Given the description of an element on the screen output the (x, y) to click on. 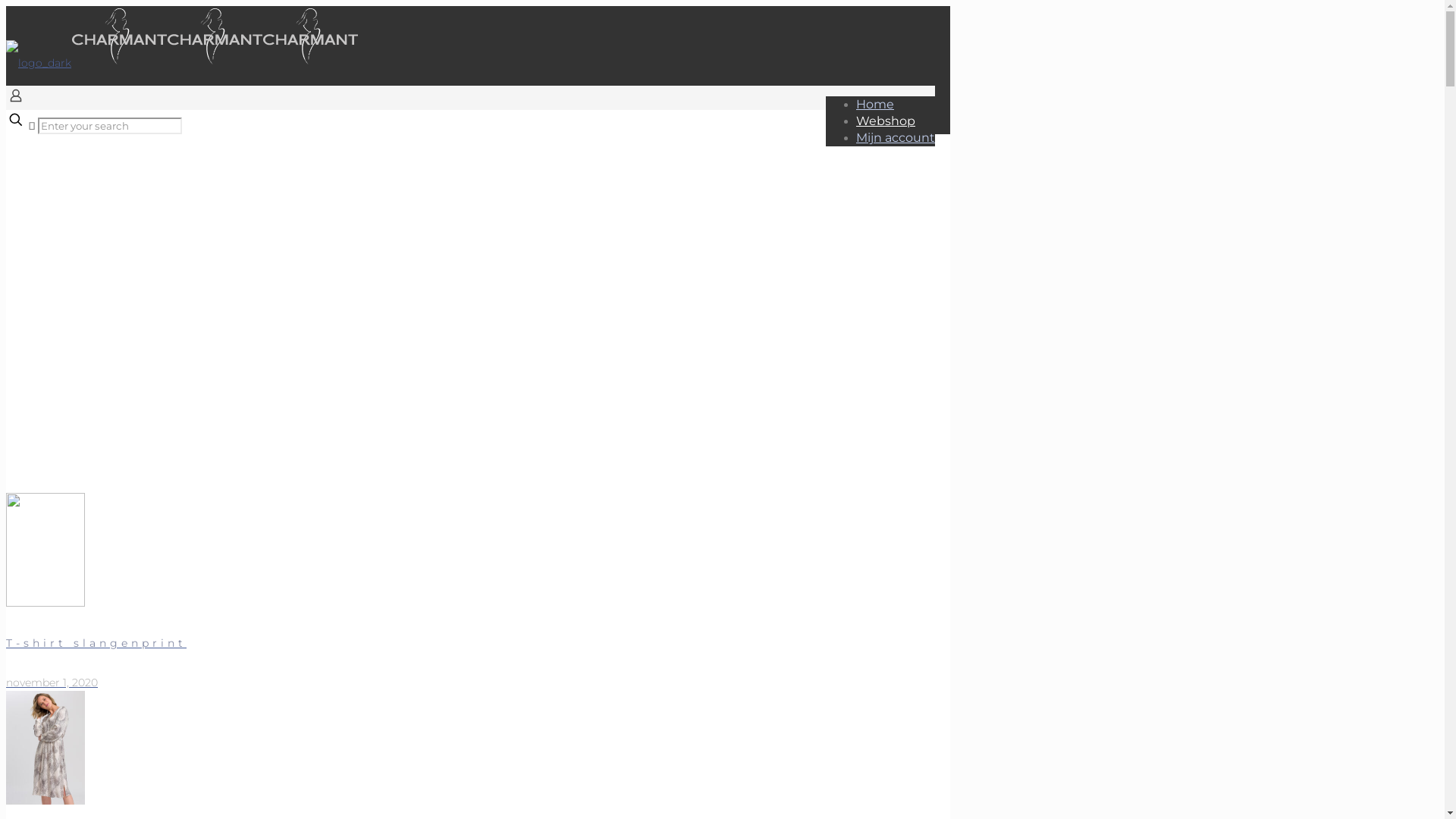
T-shirt slangenprint
november 1, 2020 Element type: text (369, 591)
Home Element type: text (875, 103)
Webshop Element type: text (885, 120)
Charmant Aalst Element type: hover (181, 62)
Mijn account Element type: text (895, 137)
